Given the description of an element on the screen output the (x, y) to click on. 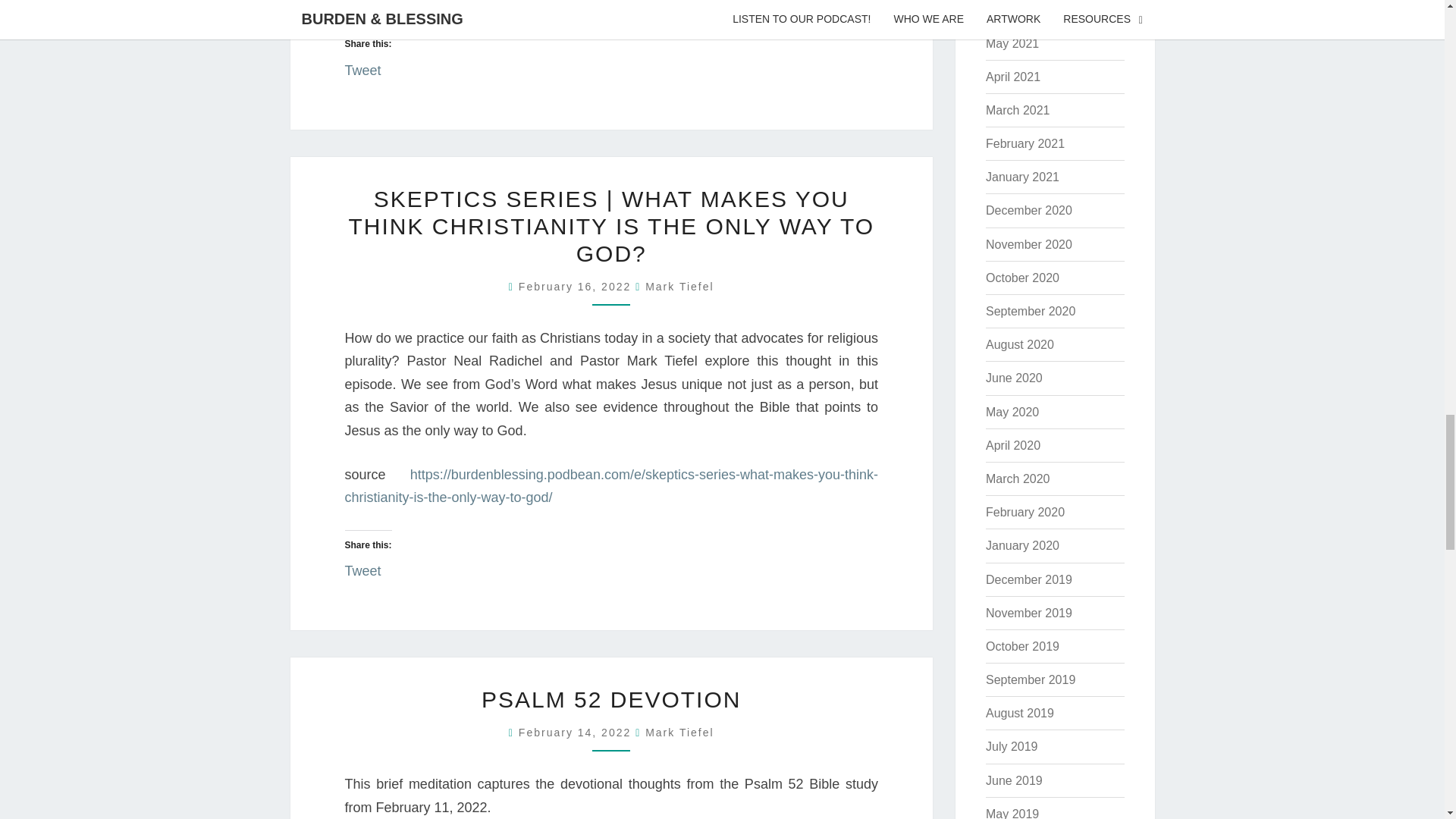
Tweet (361, 566)
Mark Tiefel (679, 286)
6:43 pm (576, 732)
6:43 am (576, 286)
View all posts by Mark Tiefel (679, 732)
View all posts by Mark Tiefel (679, 286)
February 16, 2022 (576, 286)
Tweet (361, 65)
